Given the description of an element on the screen output the (x, y) to click on. 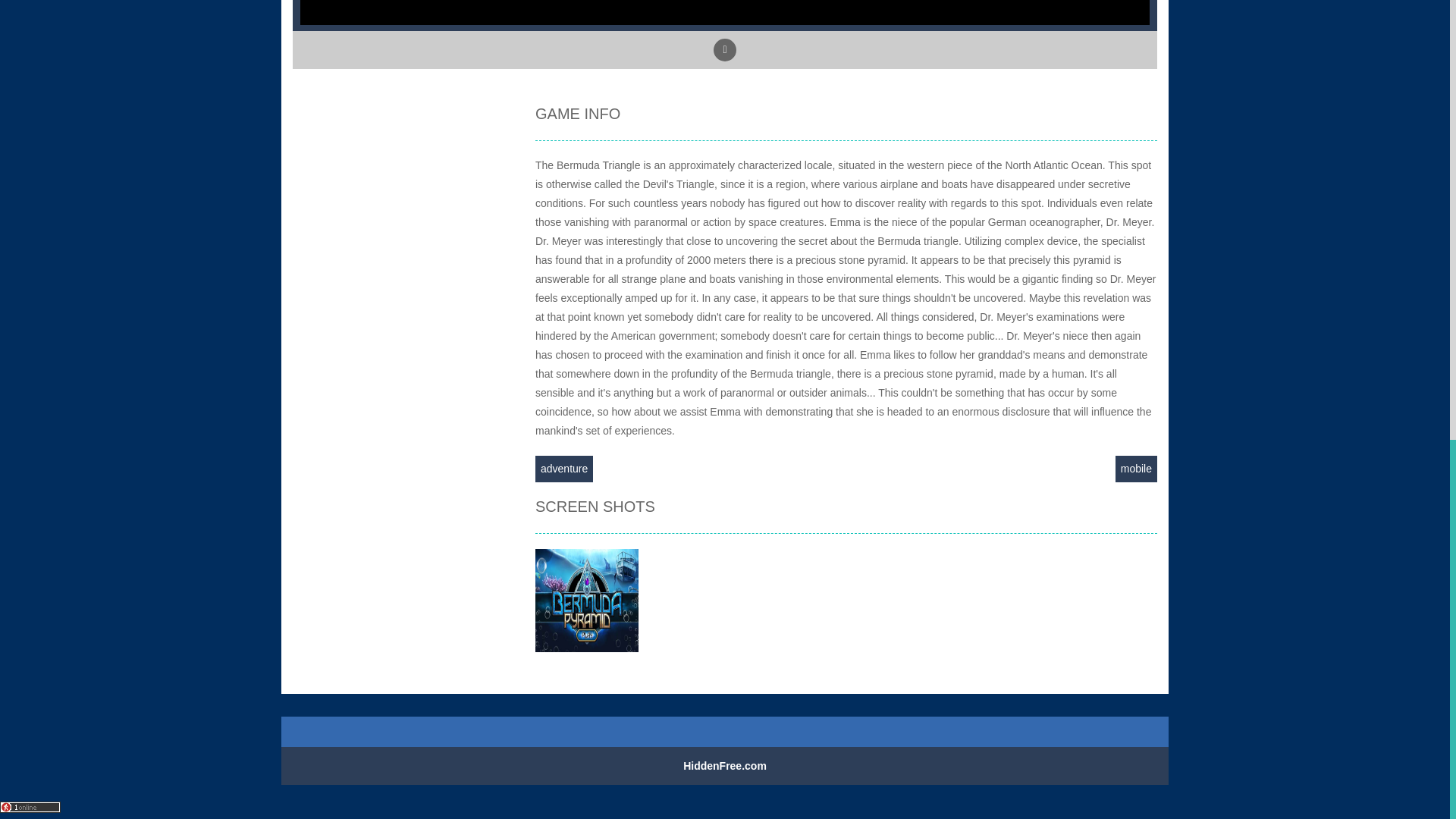
adventure (563, 468)
Click to see what's popular on this site! (30, 807)
HiddenFree.com (724, 766)
mobile (1136, 468)
HiddenFree.com (724, 766)
